Given the description of an element on the screen output the (x, y) to click on. 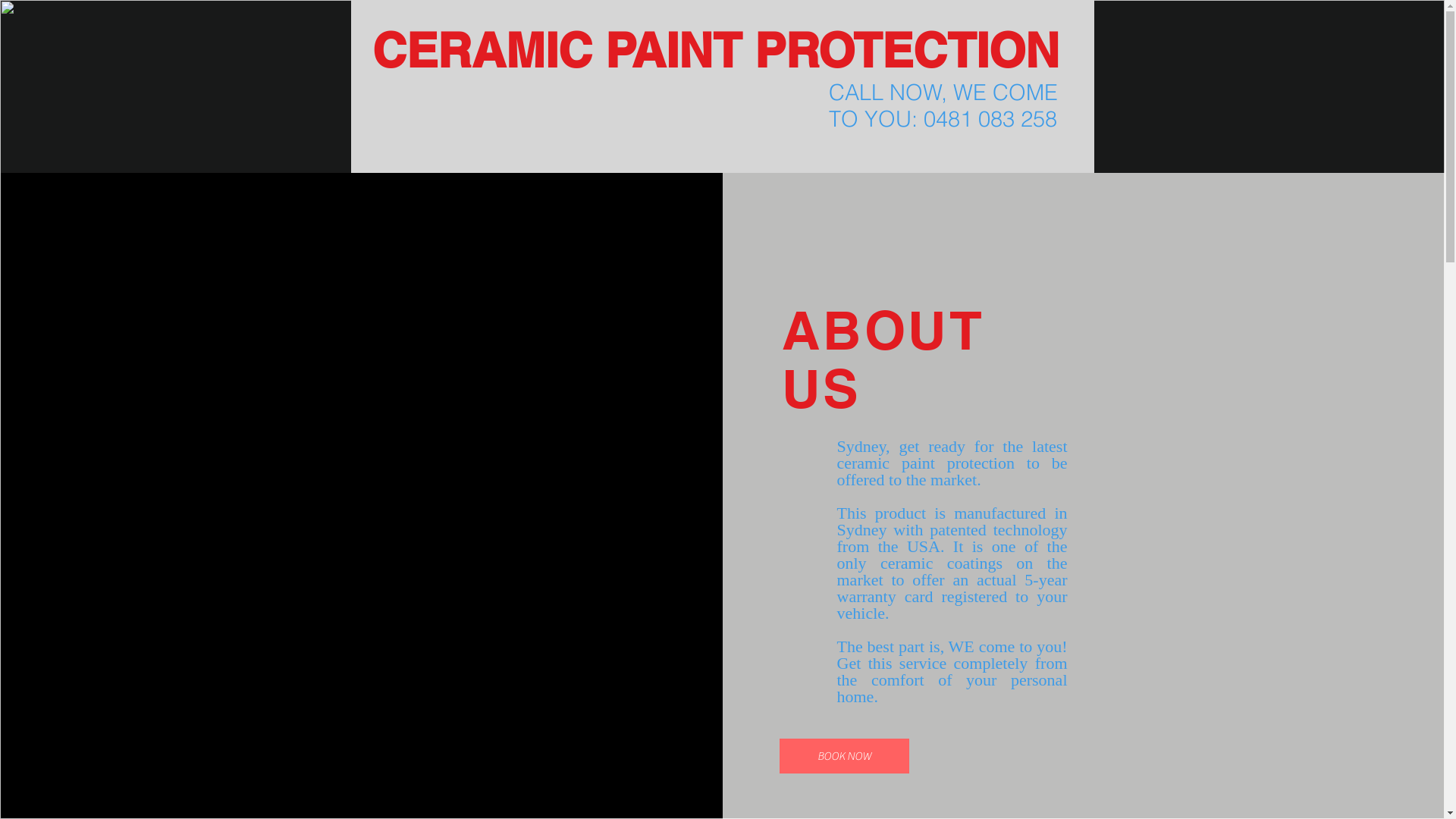
0481 083 258 Element type: text (990, 118)
BOOK NOW Element type: text (844, 755)
